Given the description of an element on the screen output the (x, y) to click on. 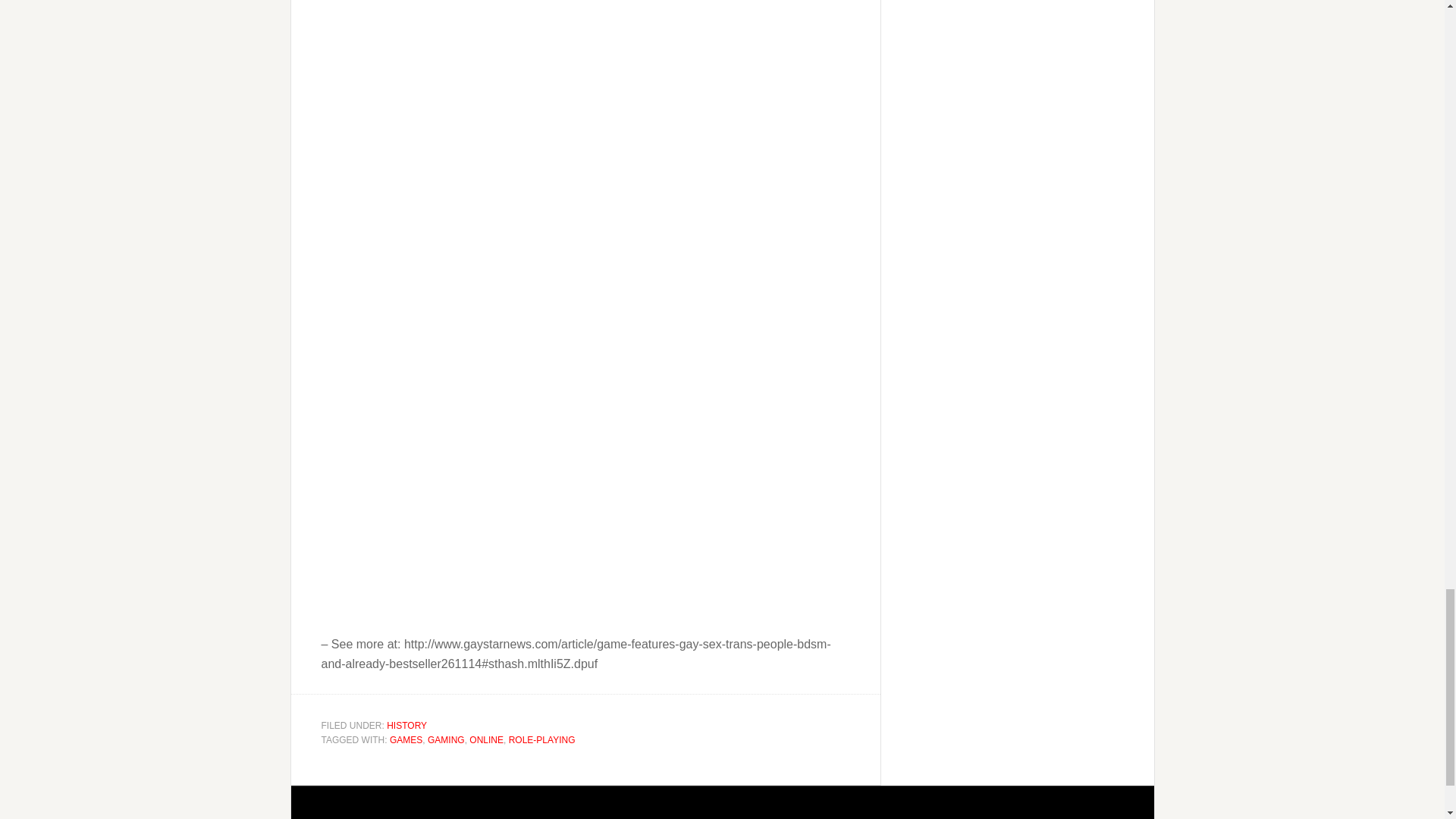
ONLINE (485, 739)
ROLE-PLAYING (541, 739)
GAMES (406, 739)
HISTORY (406, 725)
GAMING (446, 739)
